Given the description of an element on the screen output the (x, y) to click on. 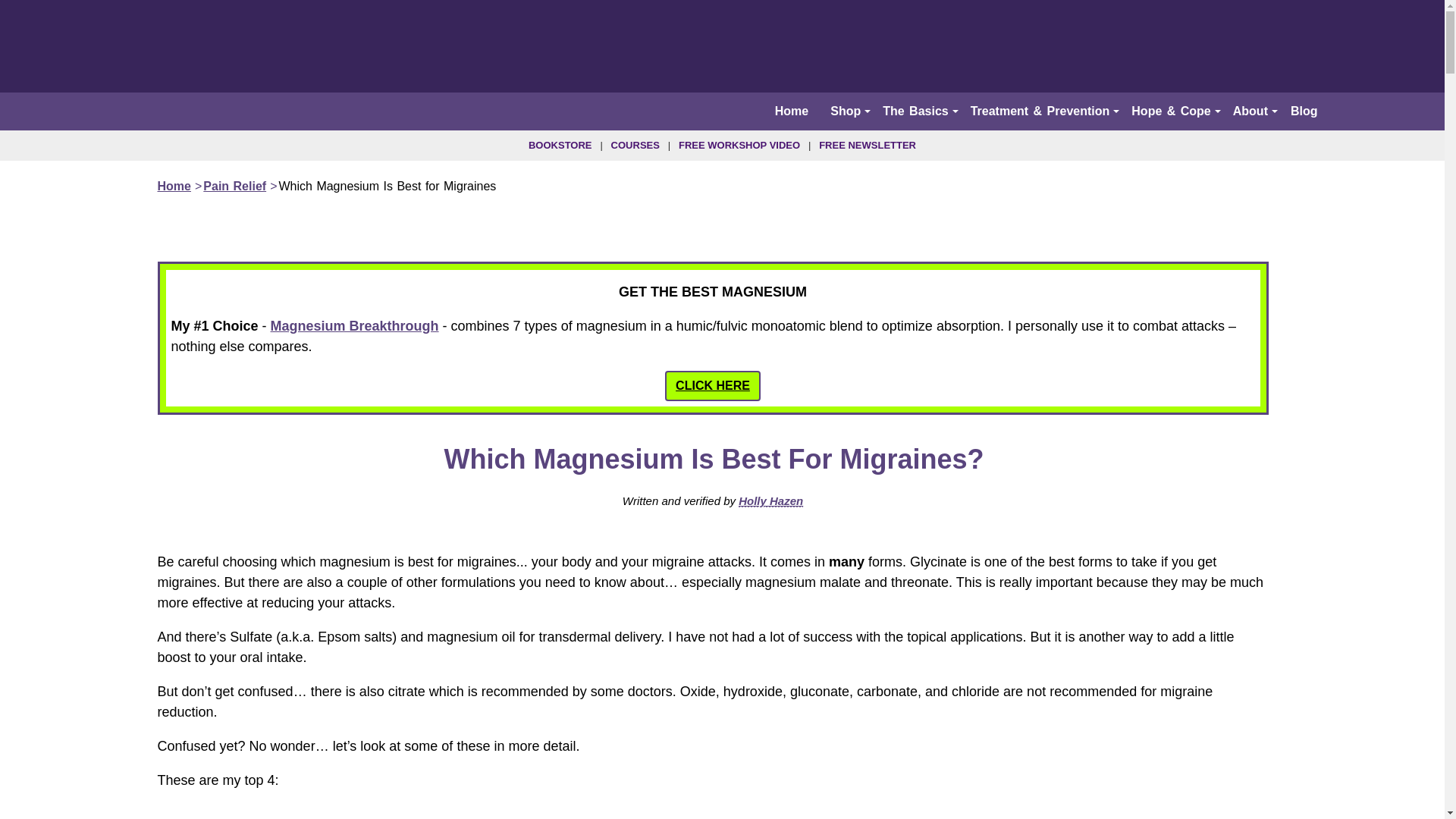
FREE WORKSHOP VIDEO (738, 144)
Pain Relief (234, 185)
Home (173, 185)
Blog (1304, 111)
CLICK HERE (712, 386)
Magnesium Breakthrough (354, 325)
FREE NEWSLETTER (866, 144)
Home (790, 111)
Holly Hazen (770, 500)
COURSES (635, 144)
BOOKSTORE (560, 144)
